Given the description of an element on the screen output the (x, y) to click on. 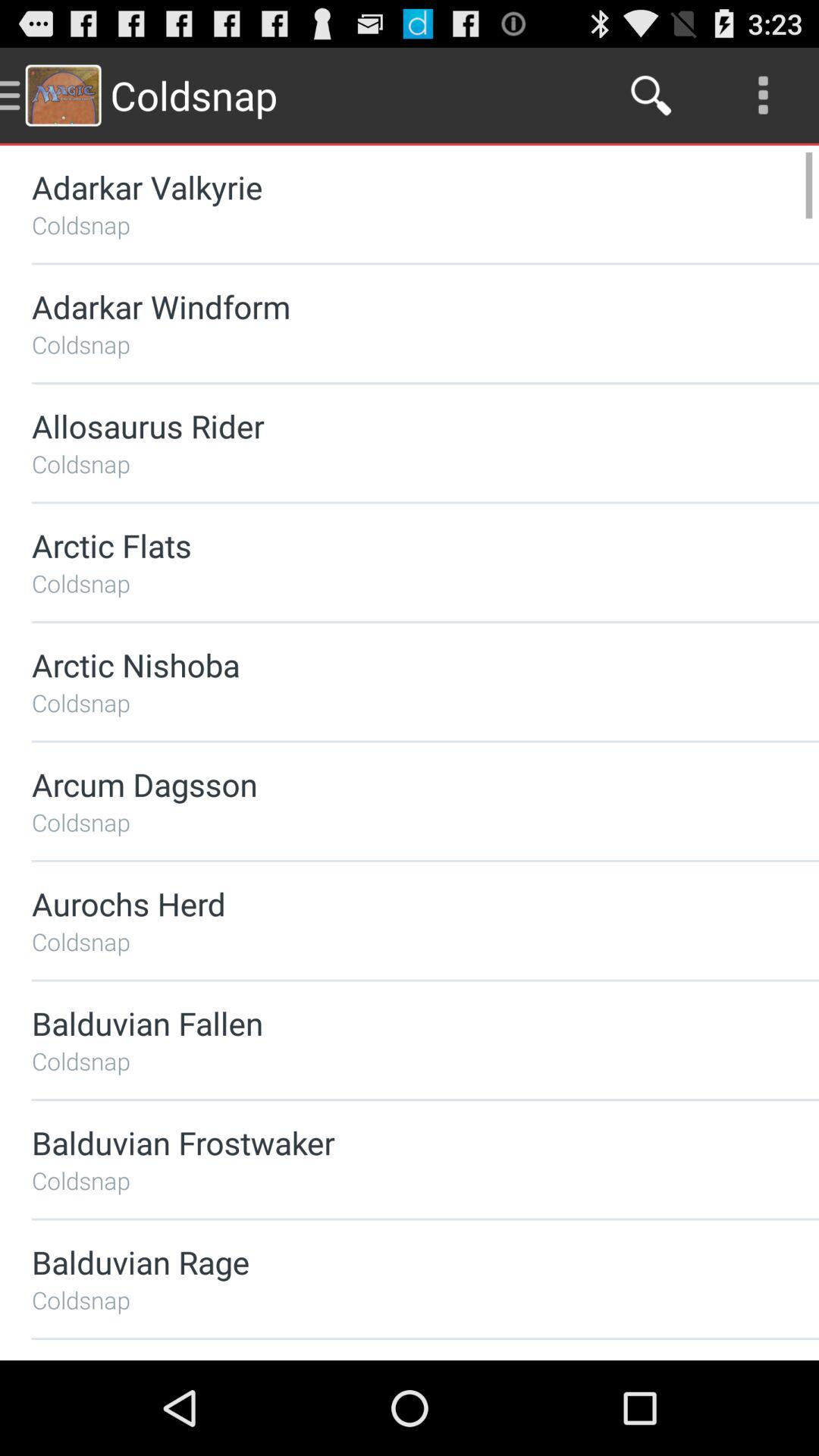
tap icon above coldsnap icon (385, 1022)
